Given the description of an element on the screen output the (x, y) to click on. 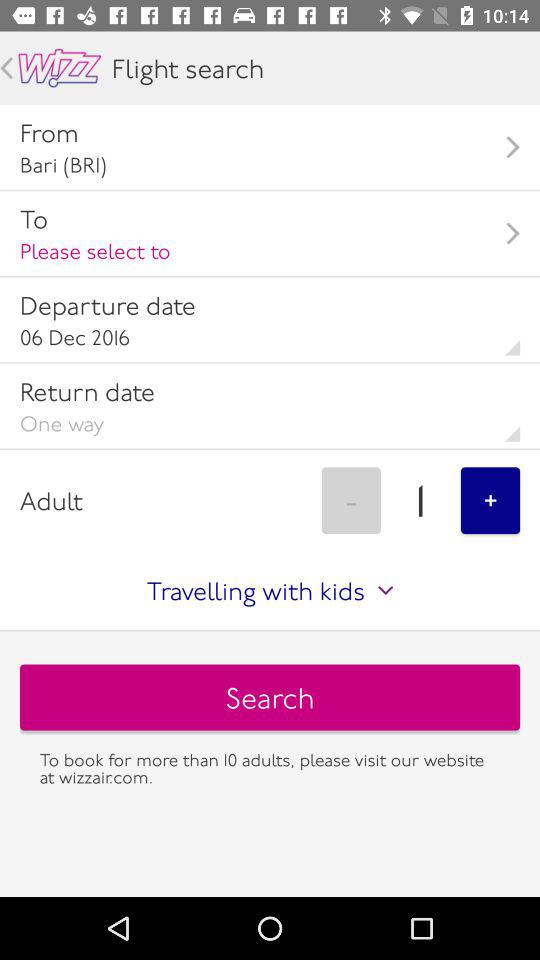
wizz marquee and home button (59, 68)
